Given the description of an element on the screen output the (x, y) to click on. 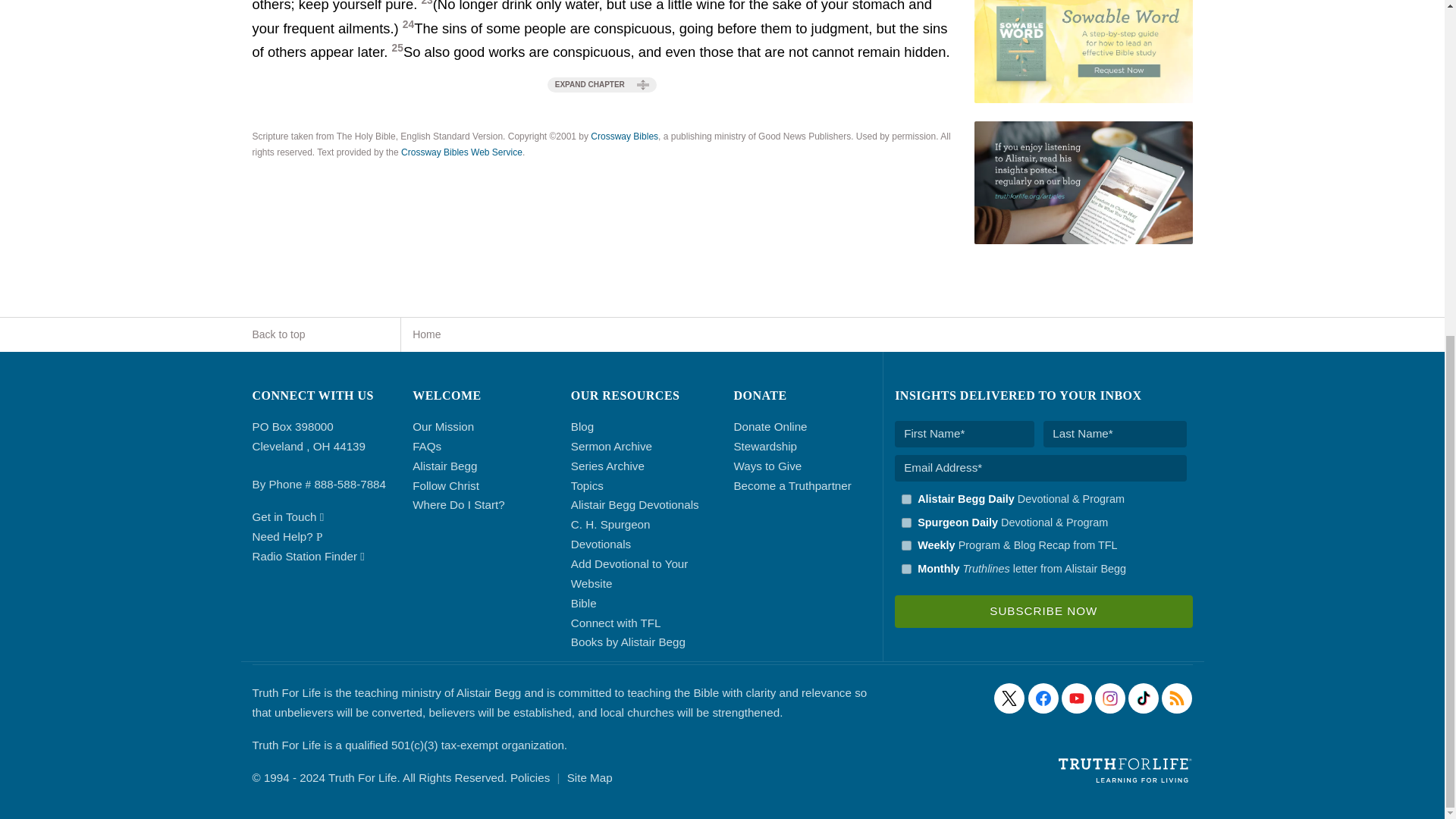
Alistair Begg Daily Devotional (906, 499)
Weekly Recap (906, 545)
Daily Devotional (906, 522)
Monthly letter from Alistair Begg (906, 569)
Subscribe Now (1043, 611)
